Given the description of an element on the screen output the (x, y) to click on. 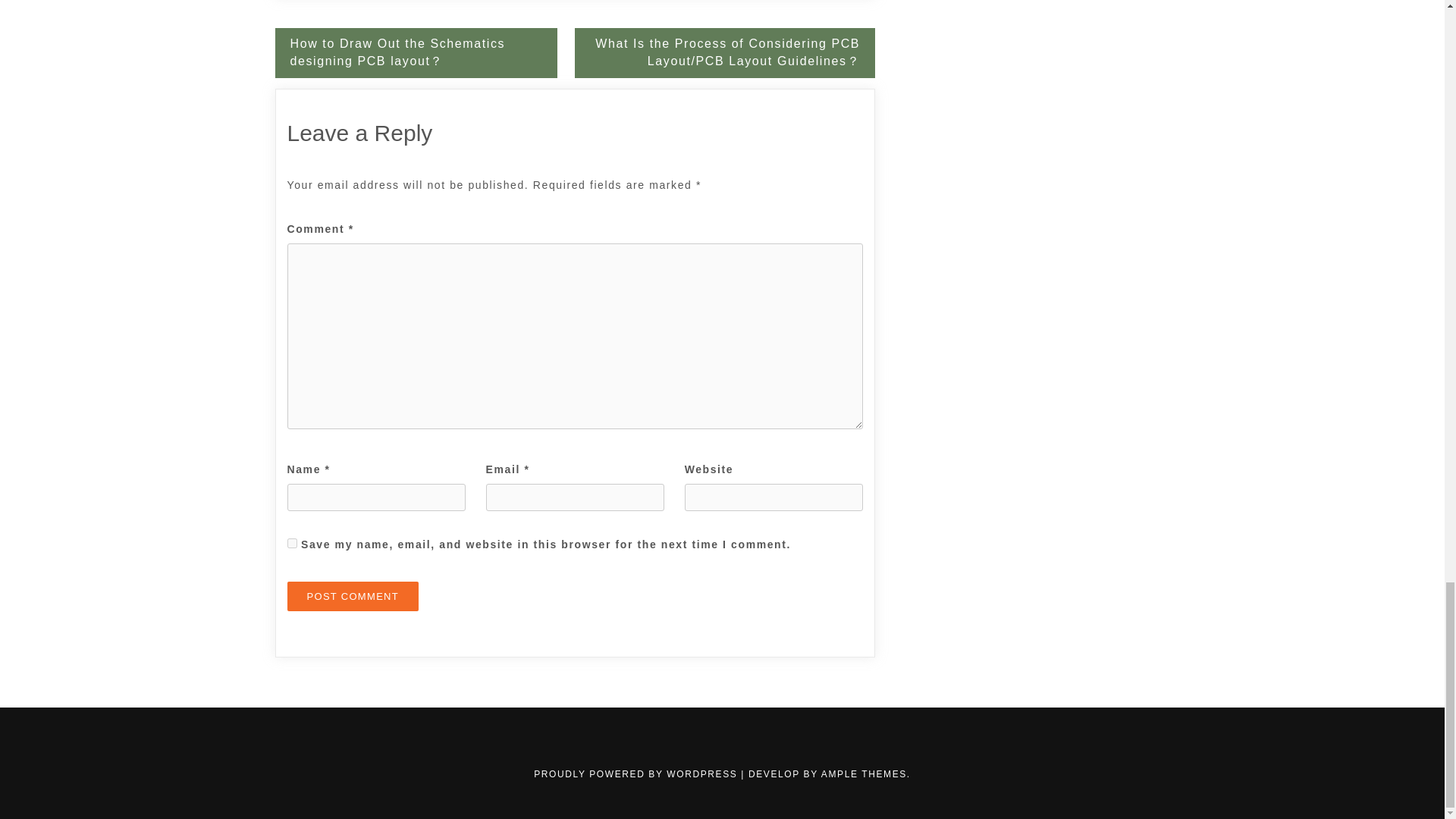
Post Comment (352, 595)
Post Comment (352, 595)
yes (291, 542)
PROUDLY POWERED BY WORDPRESS (637, 774)
AMPLE THEMES (864, 774)
